Given the description of an element on the screen output the (x, y) to click on. 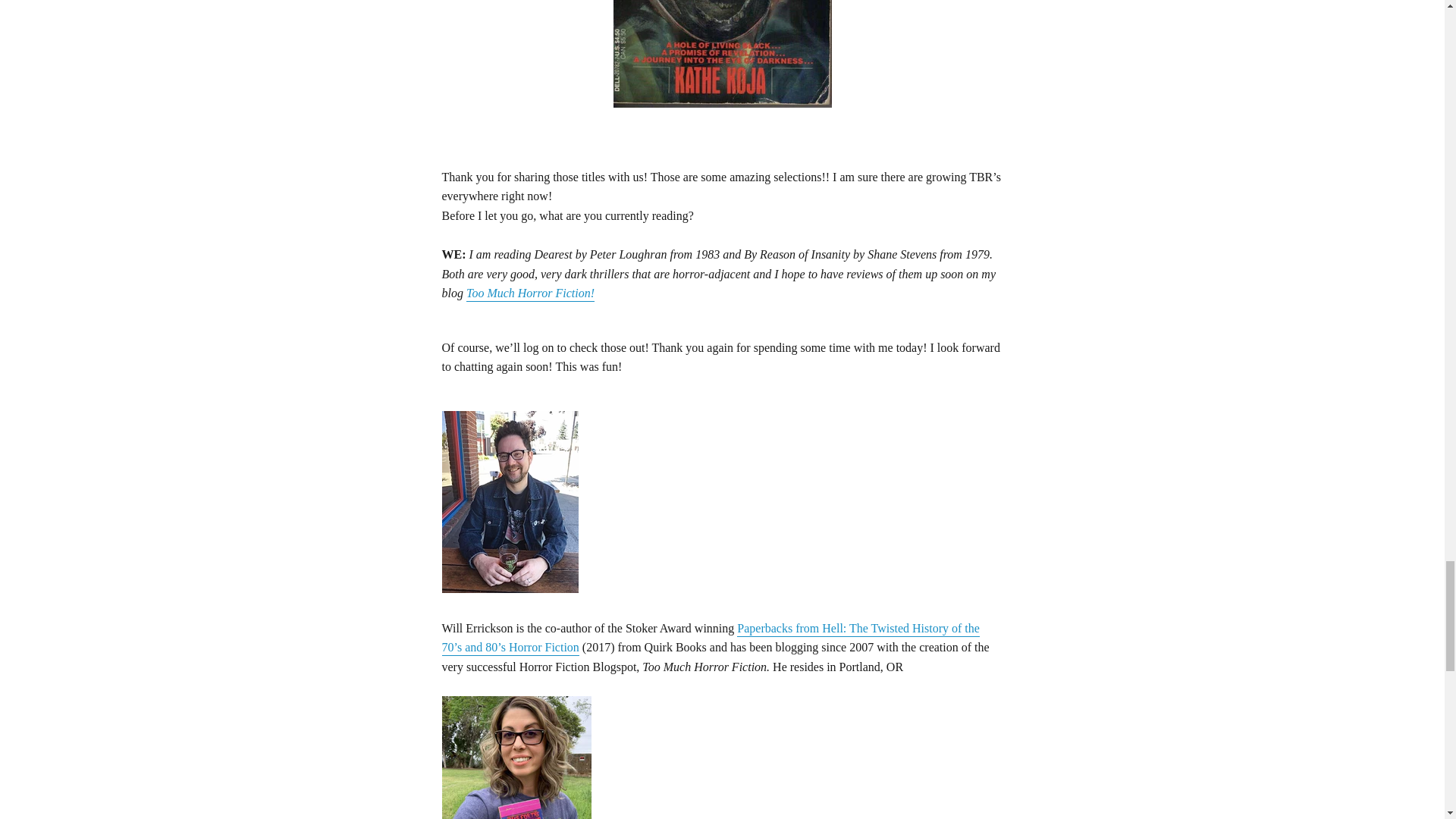
Too Much Horror Fiction! (529, 294)
